Given the description of an element on the screen output the (x, y) to click on. 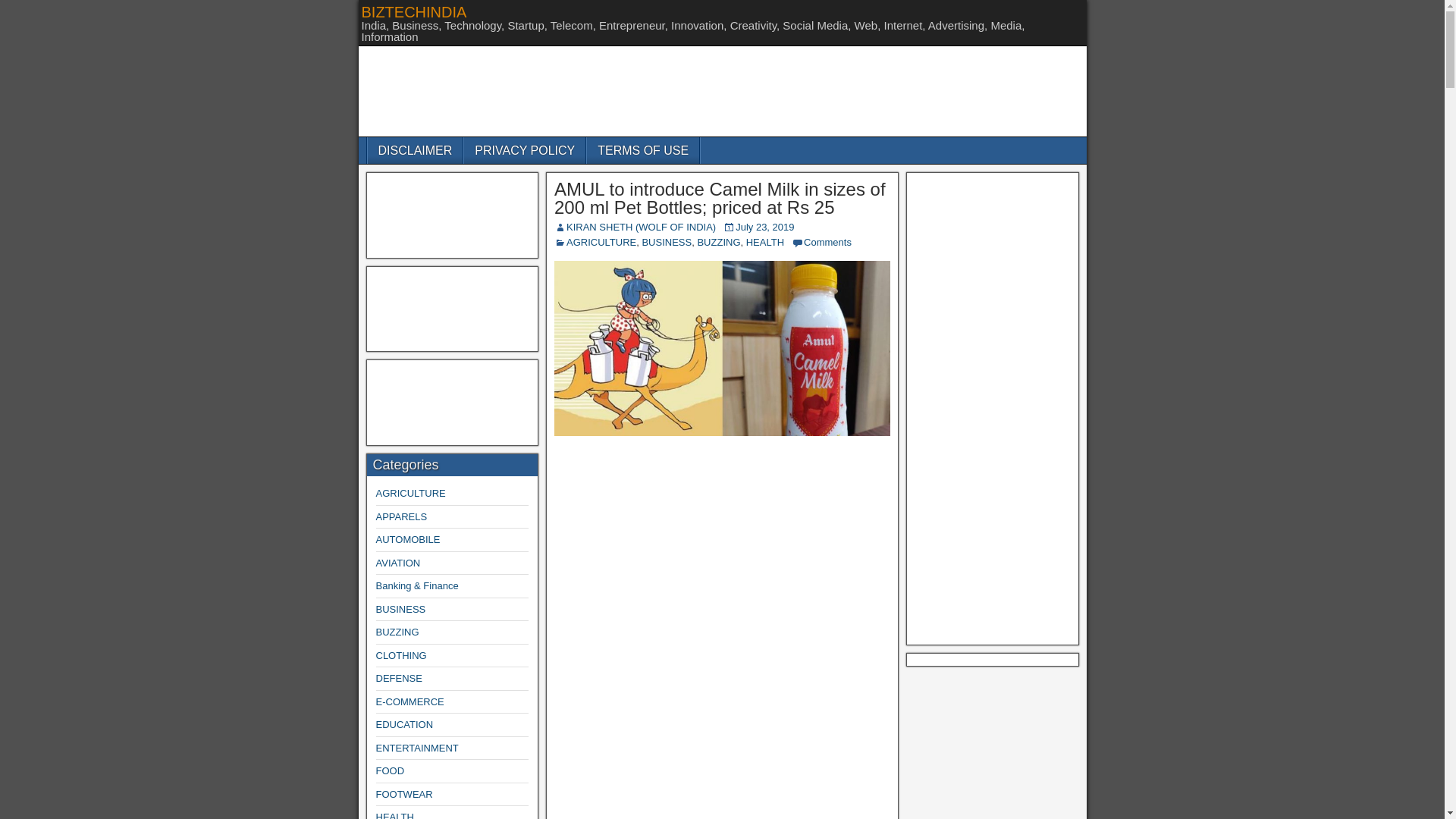
DISCLAIMER (414, 150)
BUZZING (718, 242)
July 23, 2019 (764, 226)
Comments (827, 242)
BIZTECHINDIA (413, 12)
AGRICULTURE (601, 242)
HEALTH (764, 242)
PRIVACY POLICY (524, 150)
TERMS OF USE (642, 150)
BUSINESS (666, 242)
